Given the description of an element on the screen output the (x, y) to click on. 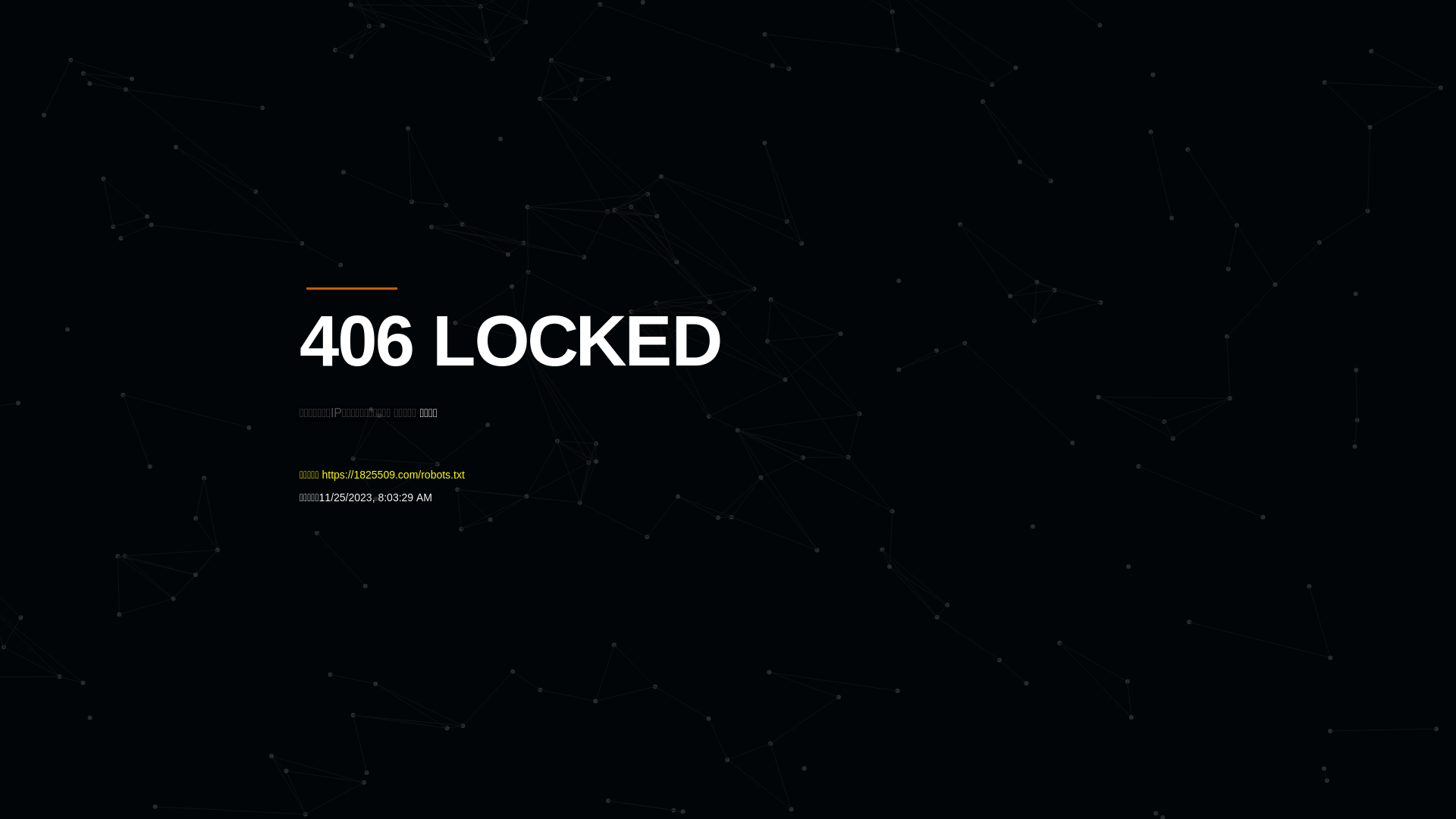
Quatro Element type: text (410, 86)
